Given the description of an element on the screen output the (x, y) to click on. 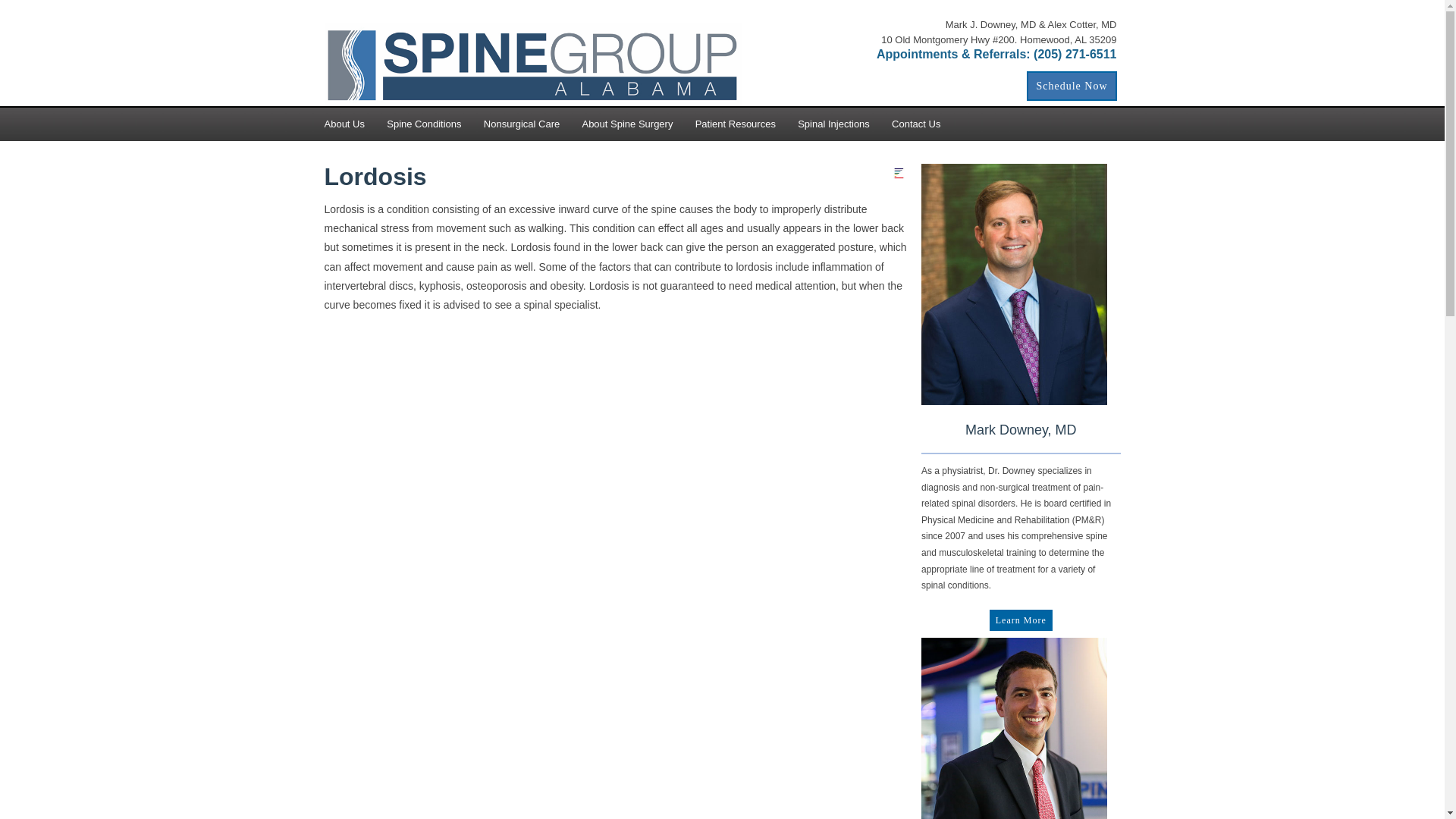
Skip to content (40, 6)
Schedule Now (1071, 85)
Nonsurgical Care (532, 124)
About Us (355, 124)
Spine Conditions (435, 124)
